Given the description of an element on the screen output the (x, y) to click on. 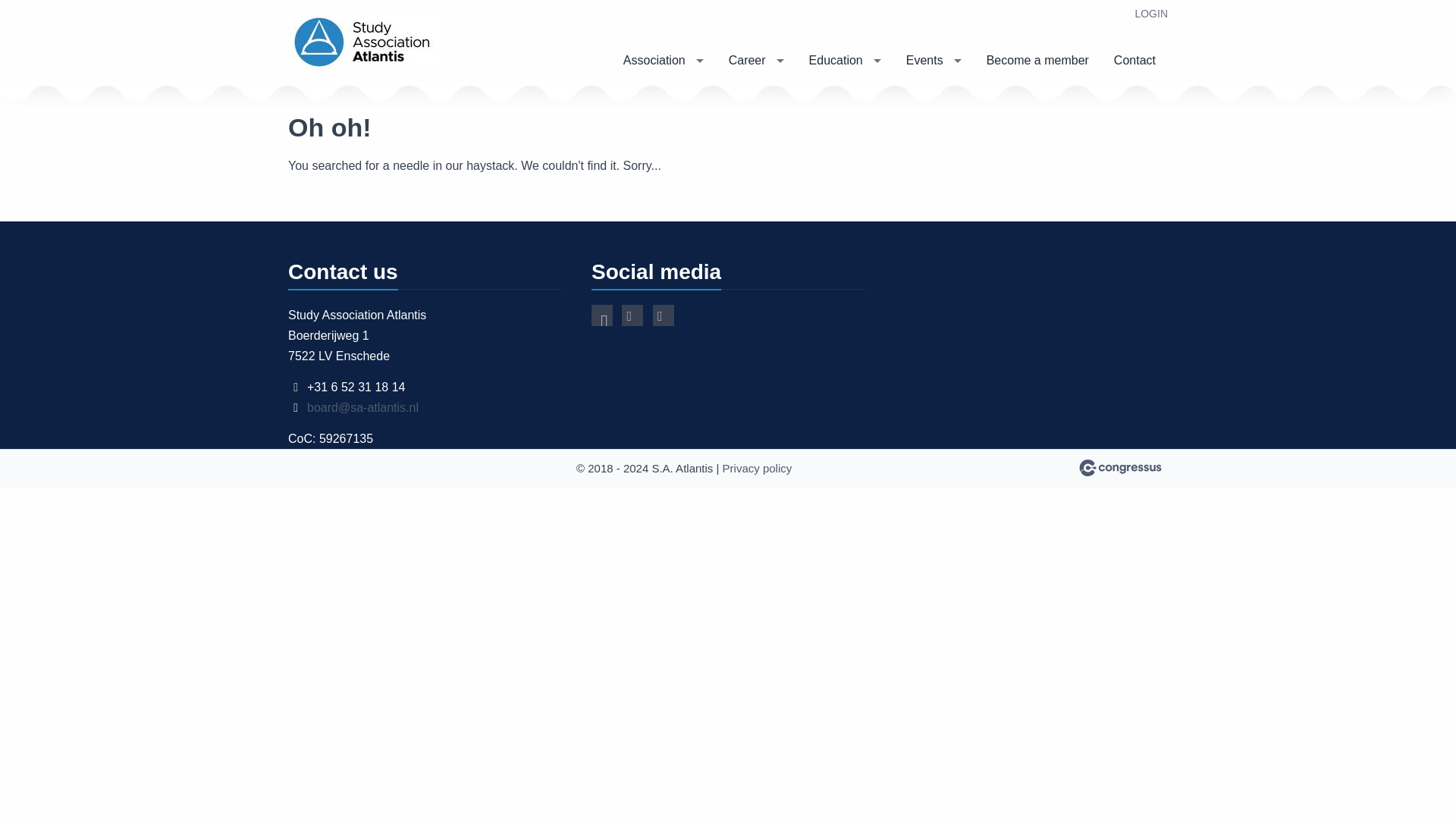
S.A. Atlantis (363, 41)
Association (663, 59)
Career (756, 59)
LOGIN (1150, 13)
Education (844, 59)
